Given the description of an element on the screen output the (x, y) to click on. 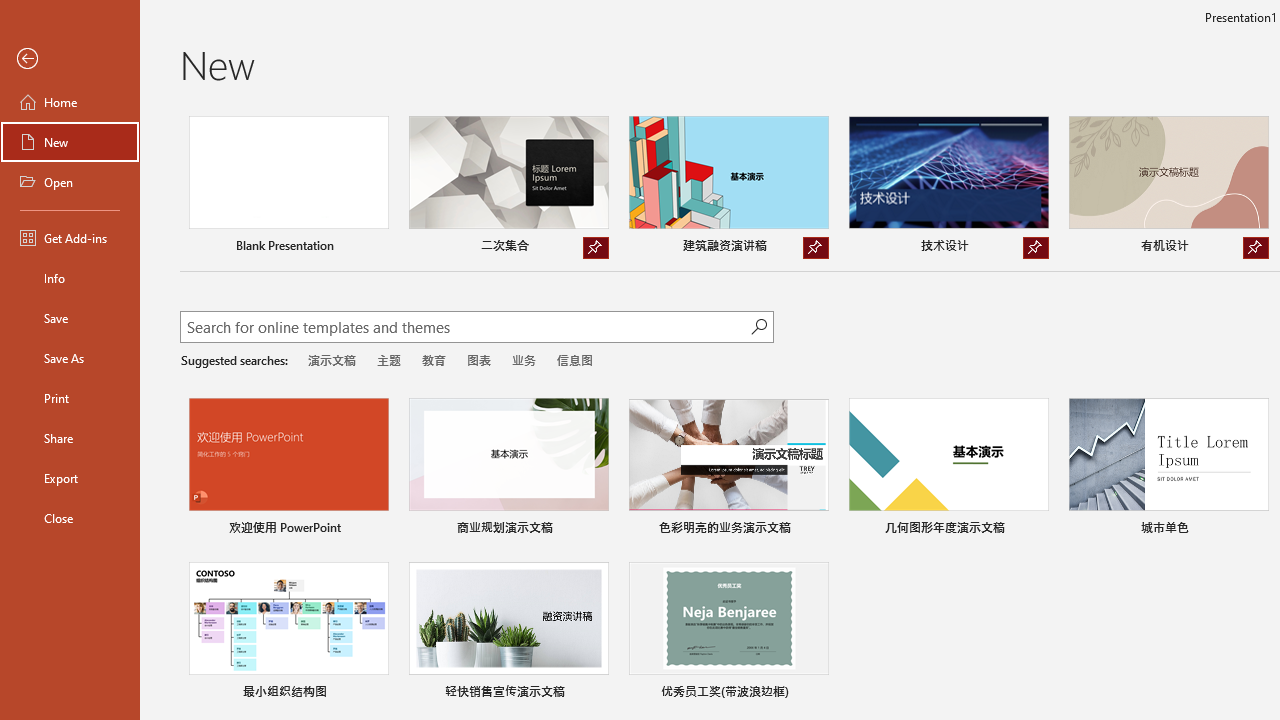
Save As (69, 357)
Unpin from list (1255, 247)
Print (69, 398)
